Given the description of an element on the screen output the (x, y) to click on. 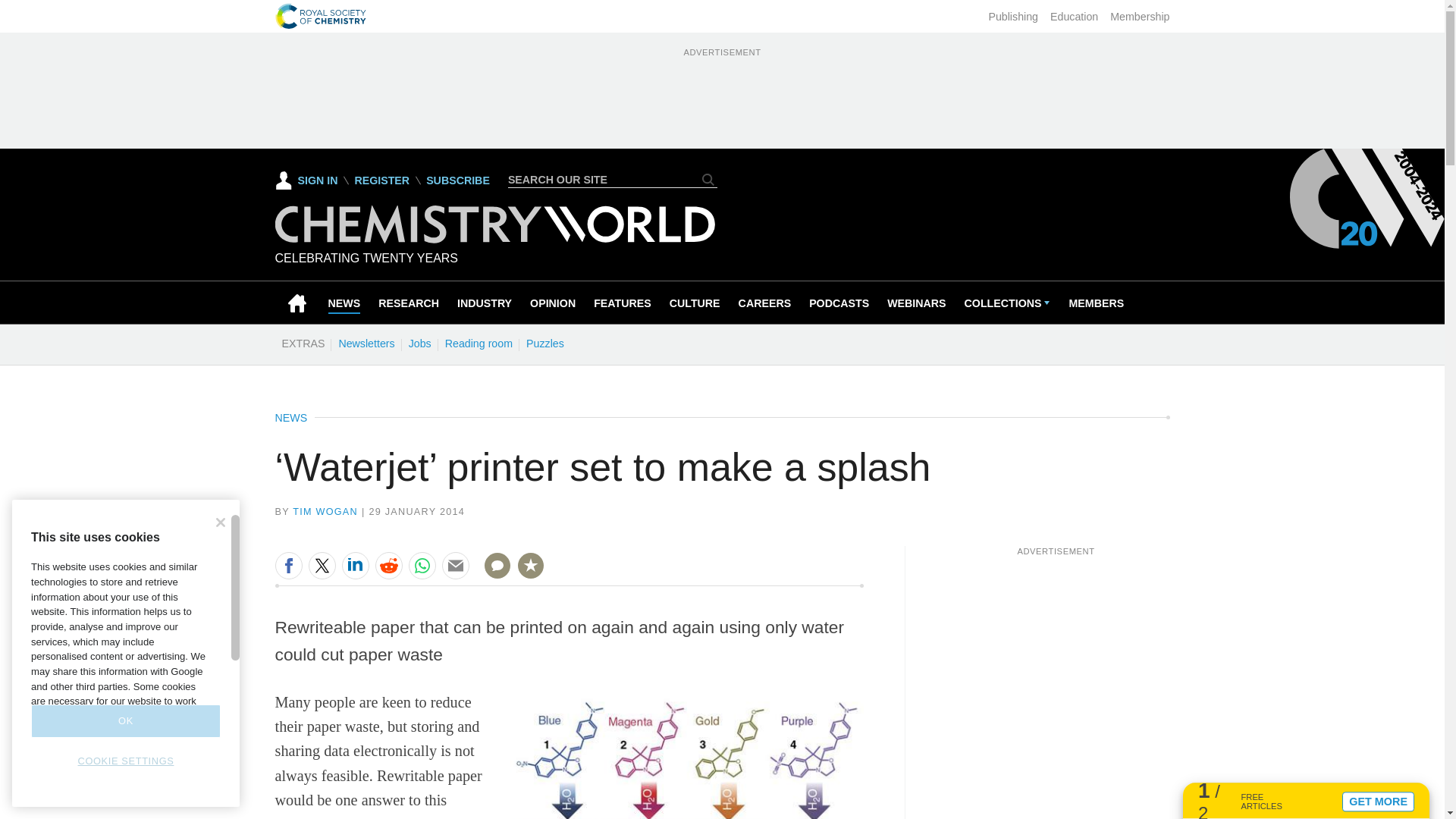
3rd party ad content (1055, 651)
Puzzles (544, 343)
SIGN IN (306, 180)
3rd party ad content (721, 94)
Share this by email (454, 565)
Share this on LinkedIn (354, 565)
Share this on Facebook (288, 565)
Membership (1139, 16)
Newsletters (366, 343)
Jobs (419, 343)
Share this on Reddit (387, 565)
Publishing (1013, 16)
SUBSCRIBE (457, 180)
Reading room (478, 343)
Education (1073, 16)
